Given the description of an element on the screen output the (x, y) to click on. 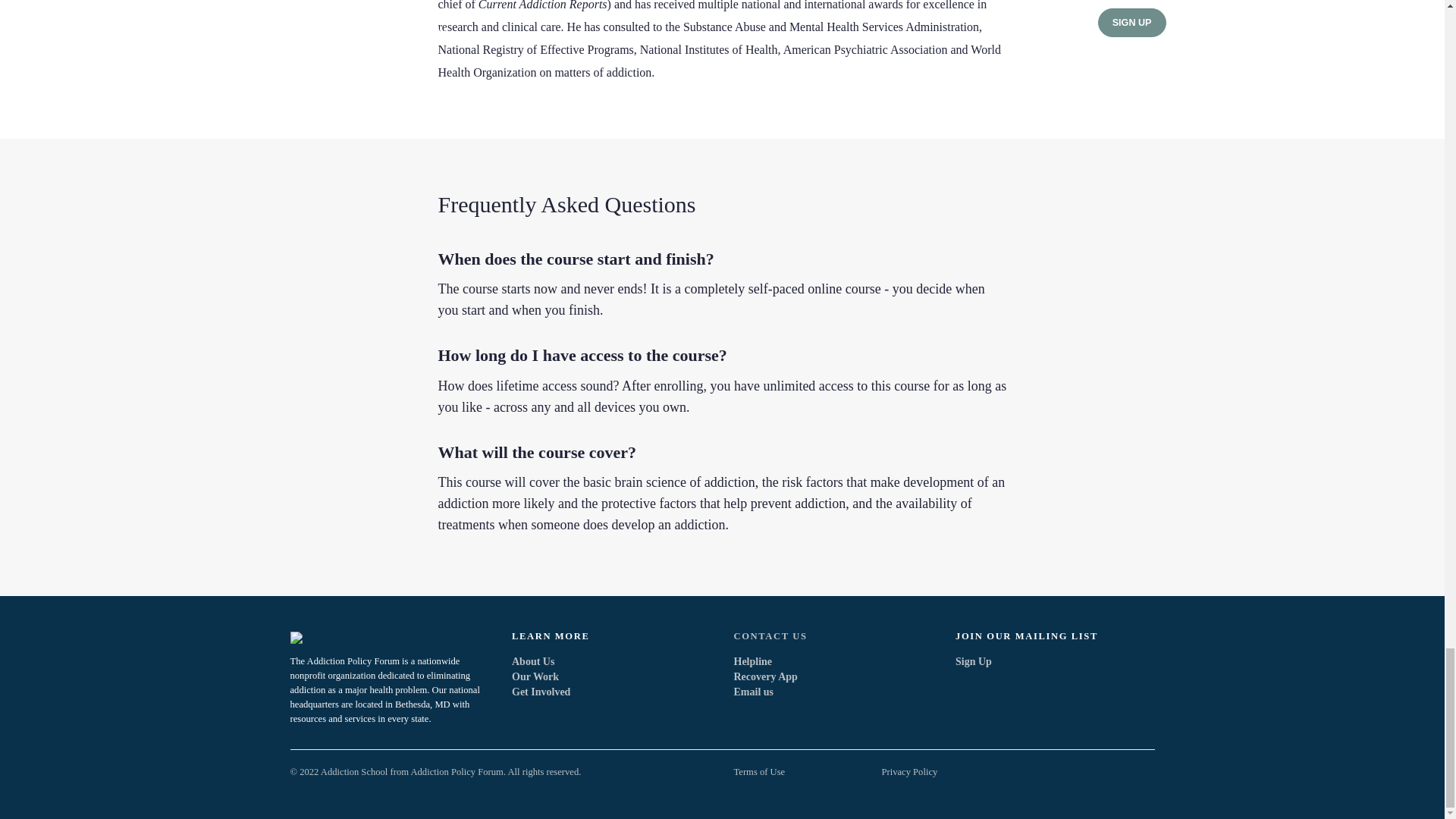
Get Involved (541, 691)
CONTACT US (833, 636)
Helpline (753, 661)
Our Work (535, 676)
Sign Up (973, 661)
   Enroll in Course for FREE (722, 715)
Terms of Use (759, 771)
Email us (753, 691)
About Us (533, 661)
Recovery App (765, 676)
